Given the description of an element on the screen output the (x, y) to click on. 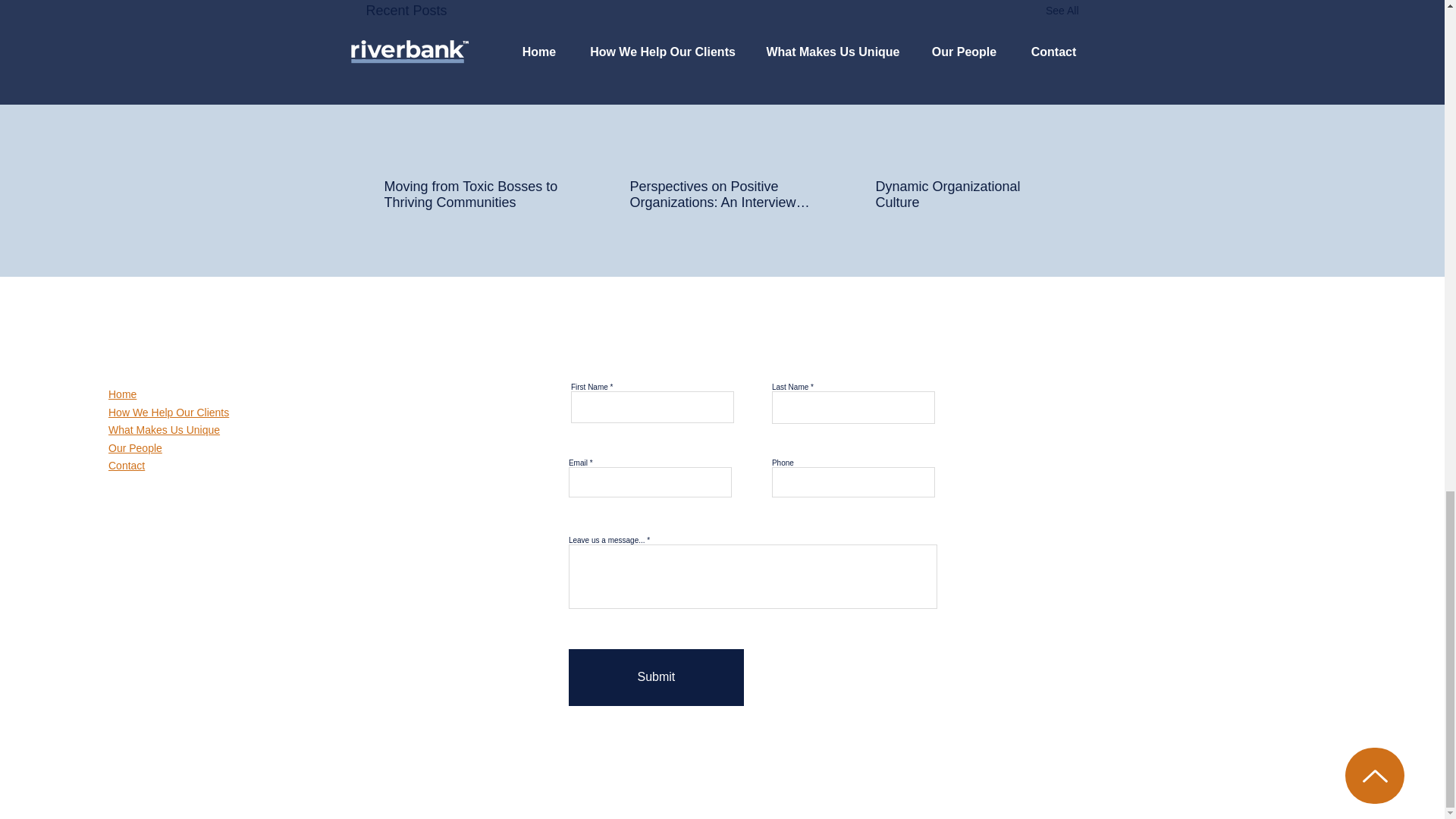
Contact (125, 465)
Moving from Toxic Bosses to Thriving Communities (475, 194)
Home (121, 394)
See All (1061, 11)
Dynamic Organizational Culture (966, 194)
How We Help Our Clients (167, 412)
Our People (134, 448)
What Makes Us Unique (163, 429)
